Given the description of an element on the screen output the (x, y) to click on. 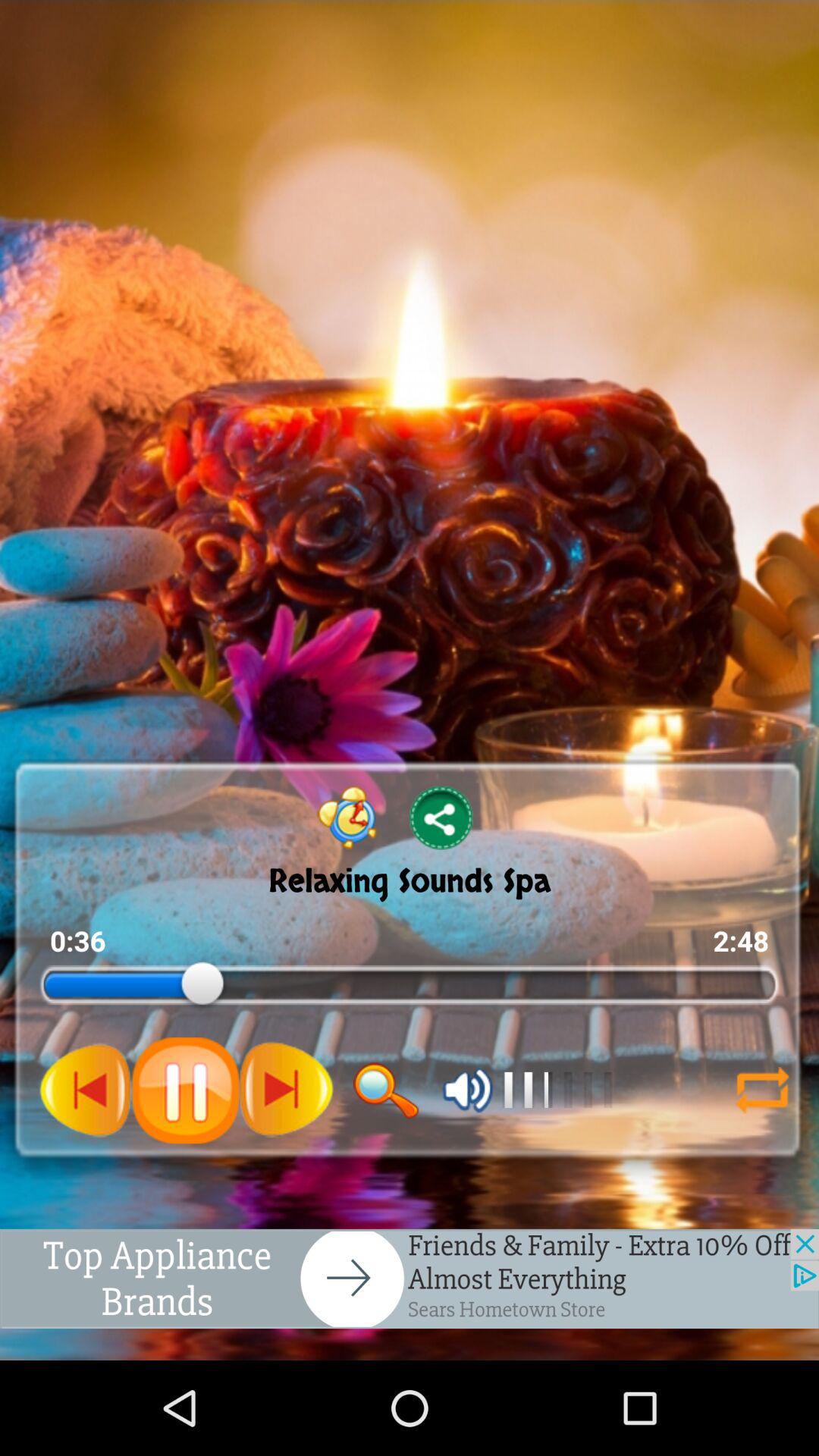
next play (85, 1090)
